Given the description of an element on the screen output the (x, y) to click on. 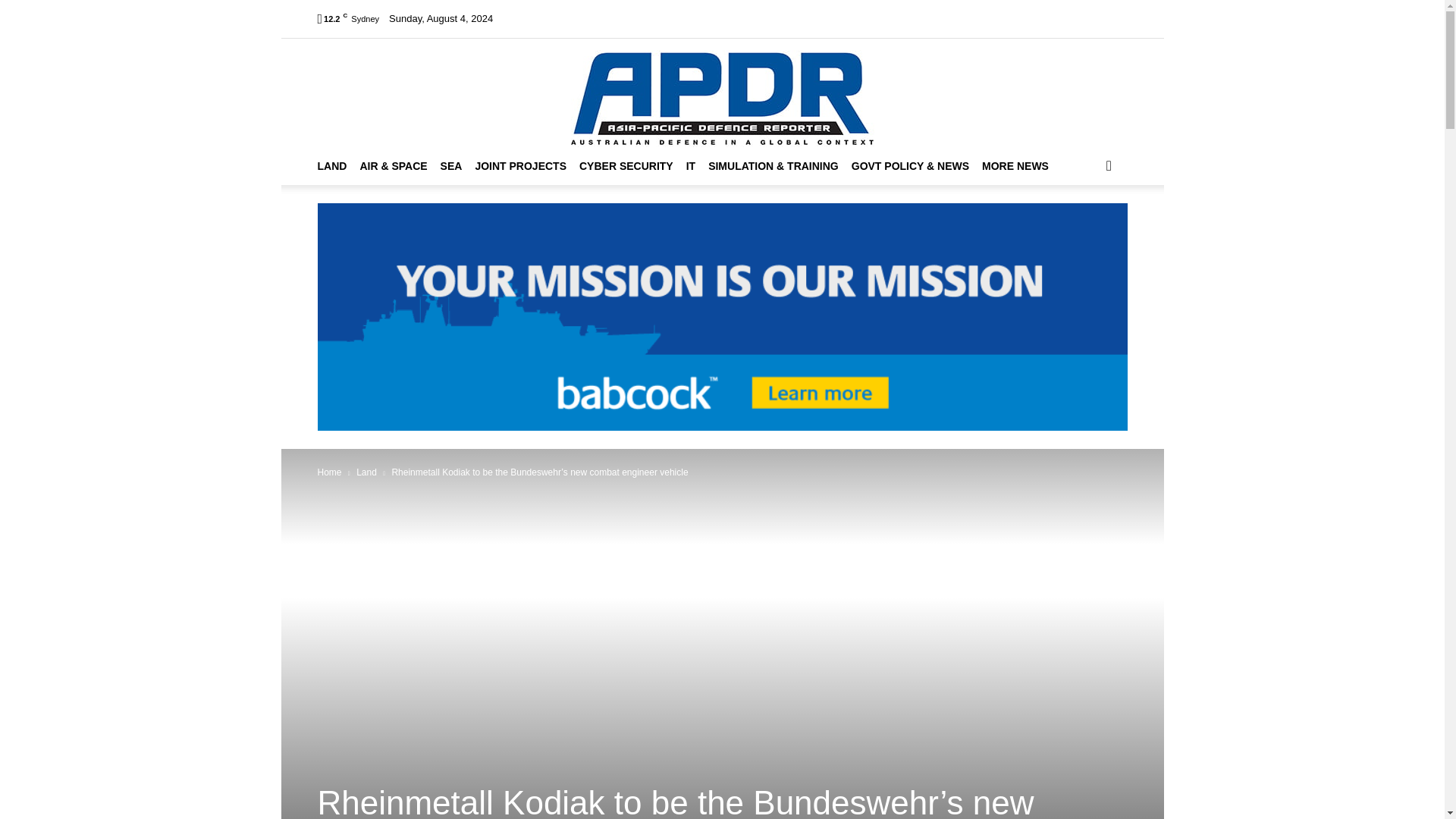
Videos (693, 18)
Home (529, 18)
Back Issues (746, 18)
About (568, 18)
Advertising (865, 18)
Contact (919, 18)
SEA (458, 166)
Subscribe (807, 18)
View all posts in Land (366, 471)
Events Calendar (630, 18)
APDR (721, 92)
LAND (338, 166)
